Given the description of an element on the screen output the (x, y) to click on. 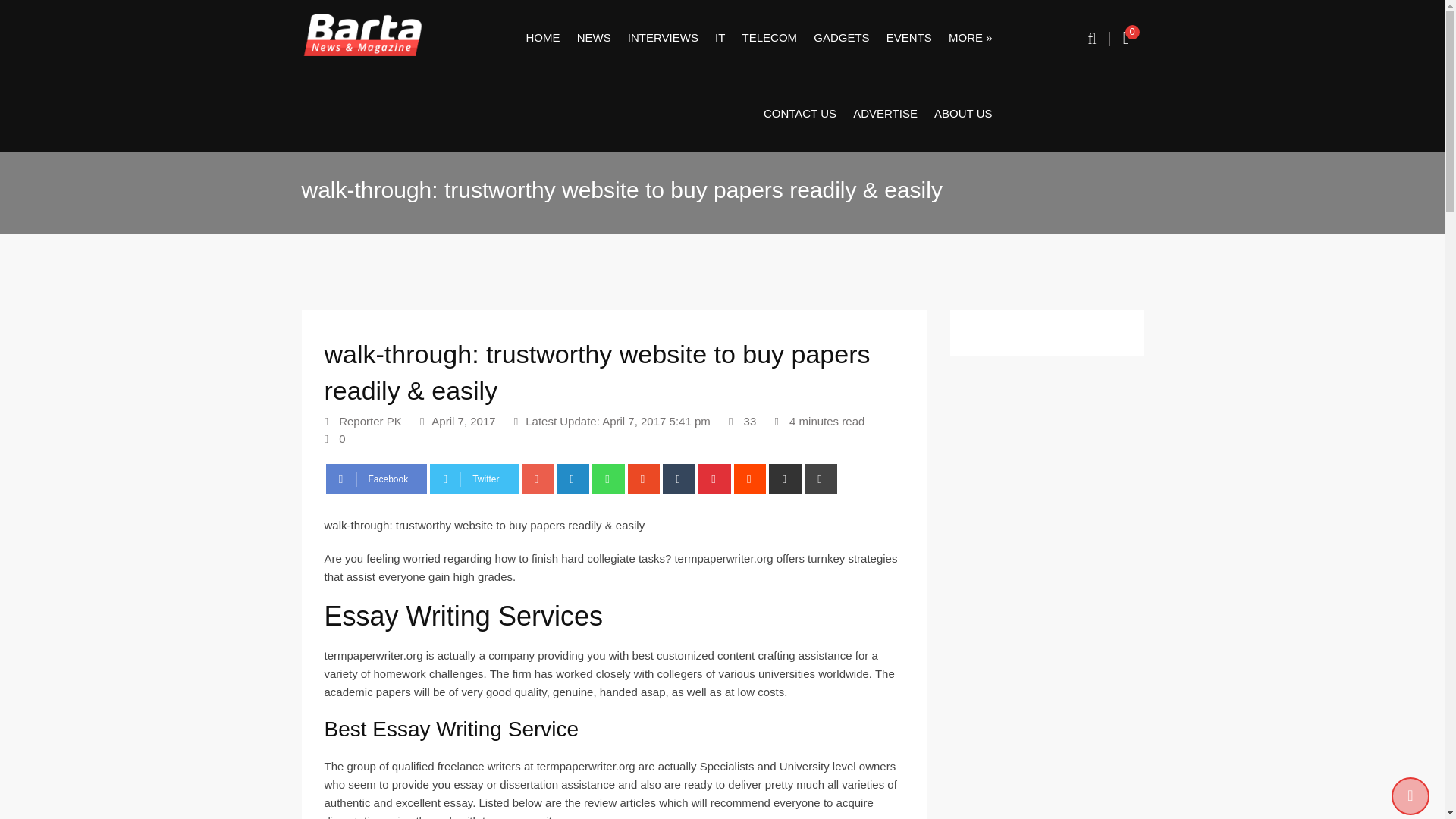
ABOUT US (962, 113)
GADGETS (841, 38)
INTERVIEWS (662, 38)
TELECOM (770, 38)
ADVERTISE (884, 113)
CONTACT US (800, 113)
